Given the description of an element on the screen output the (x, y) to click on. 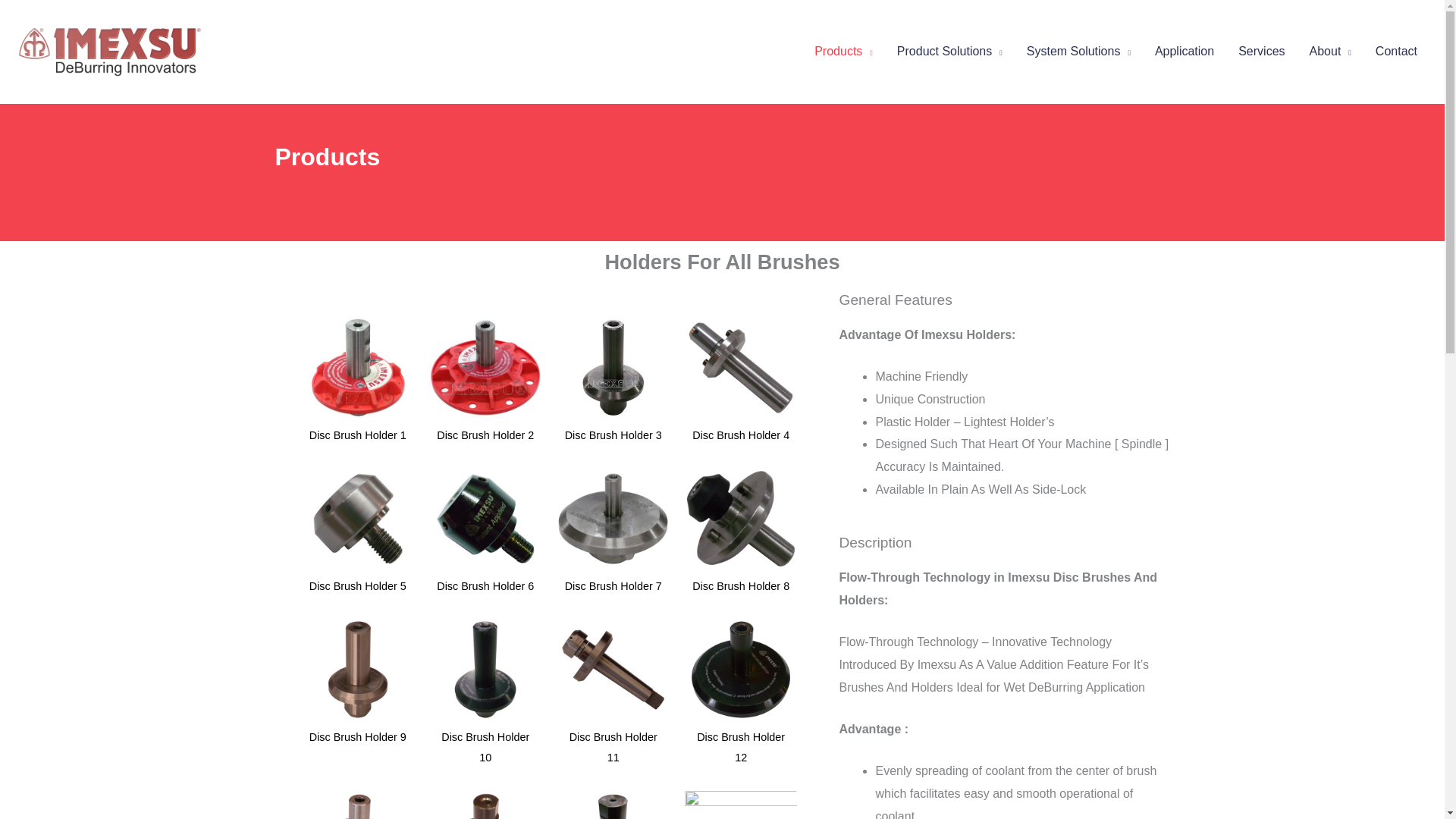
System Solutions (1078, 51)
Application (1183, 51)
About (1329, 51)
Products (843, 51)
Product Solutions (949, 51)
Services (1261, 51)
